Given the description of an element on the screen output the (x, y) to click on. 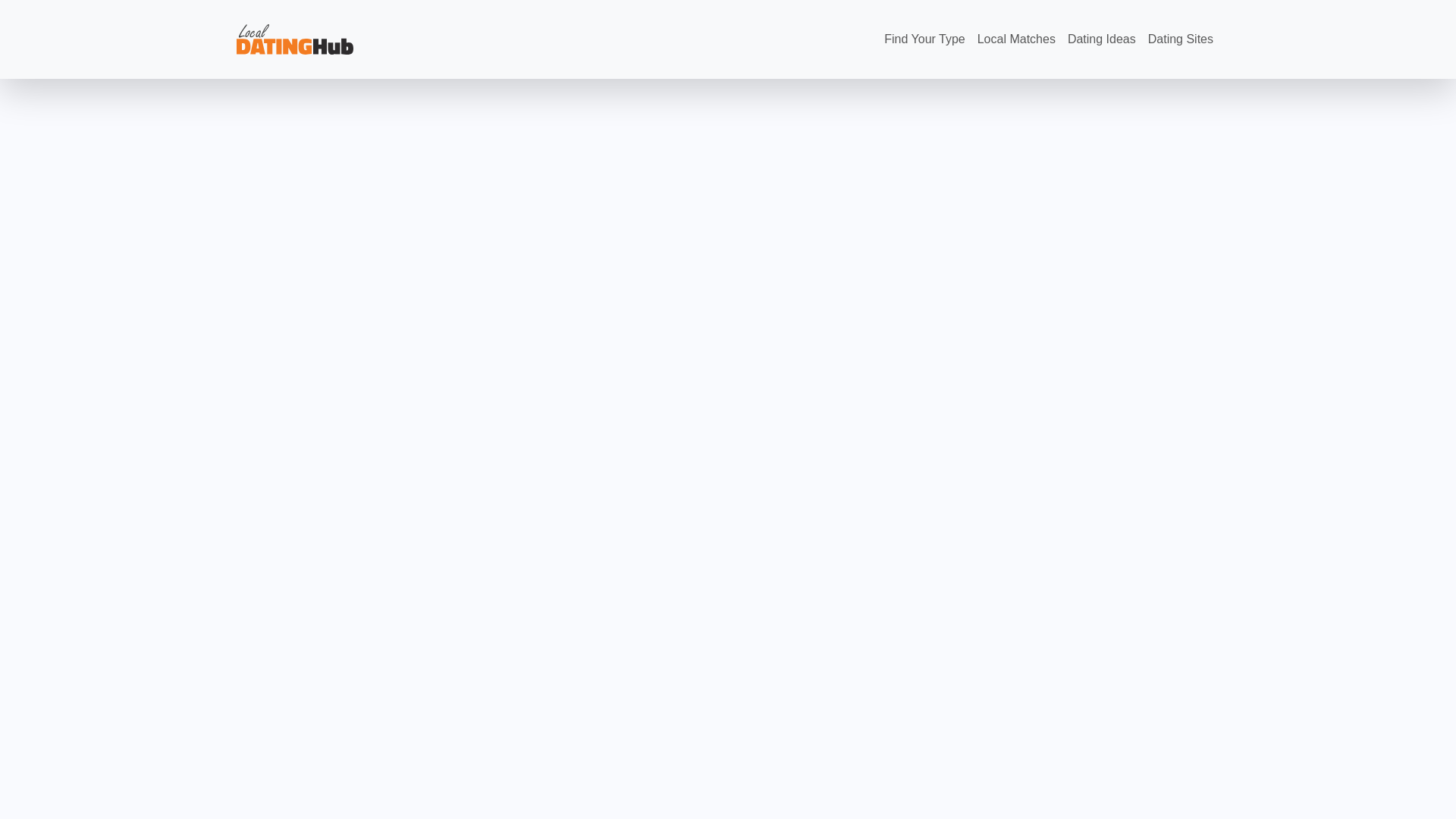
Dating Ideas (1101, 39)
Local Matches (1016, 39)
Find Your Type (924, 39)
Dating Sites (1180, 39)
